Given the description of an element on the screen output the (x, y) to click on. 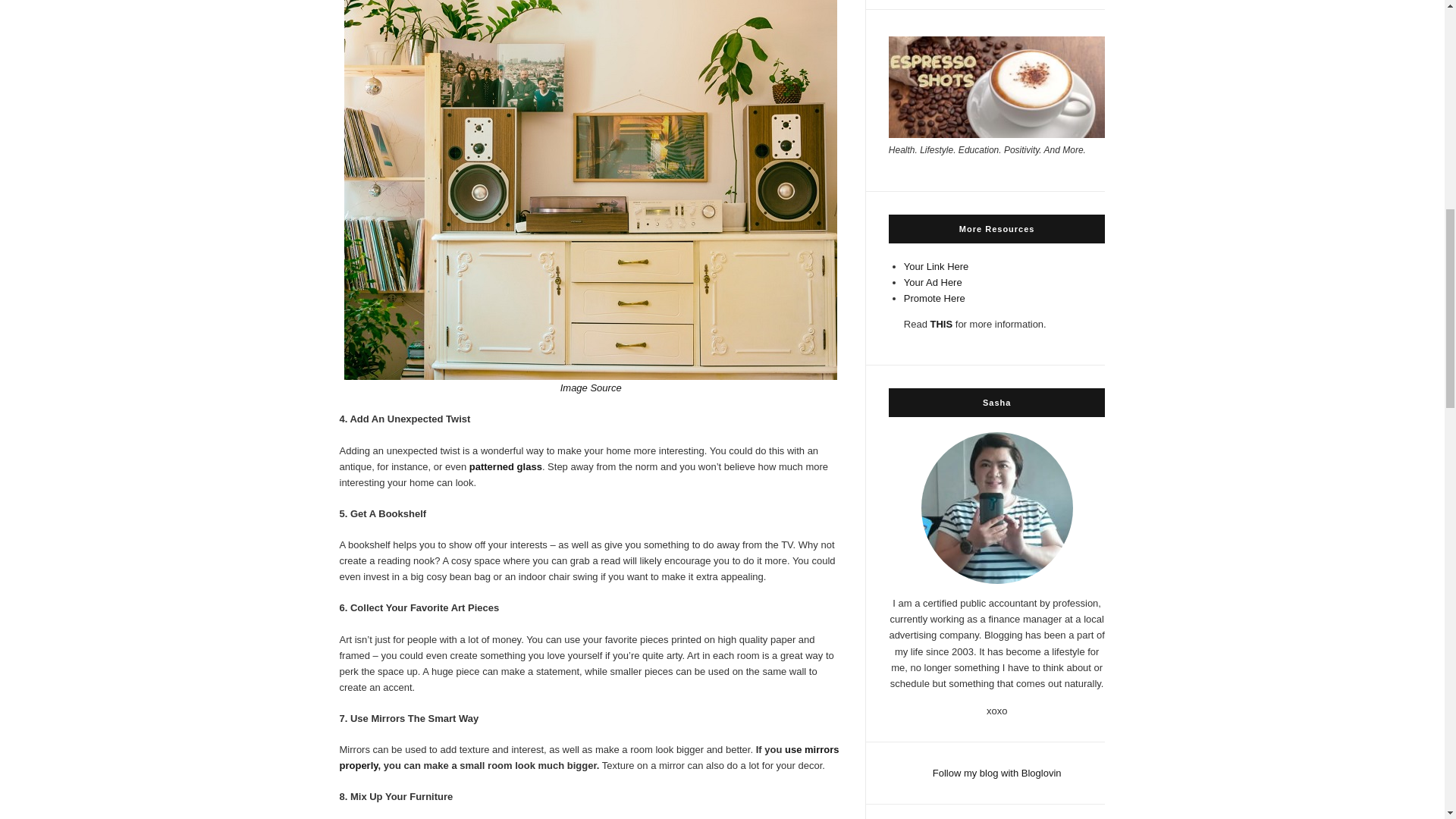
Image Source (590, 387)
Your Link Here (936, 266)
patterned glass (504, 466)
Your Ad Here (933, 282)
use mirrors properly (589, 757)
